Given the description of an element on the screen output the (x, y) to click on. 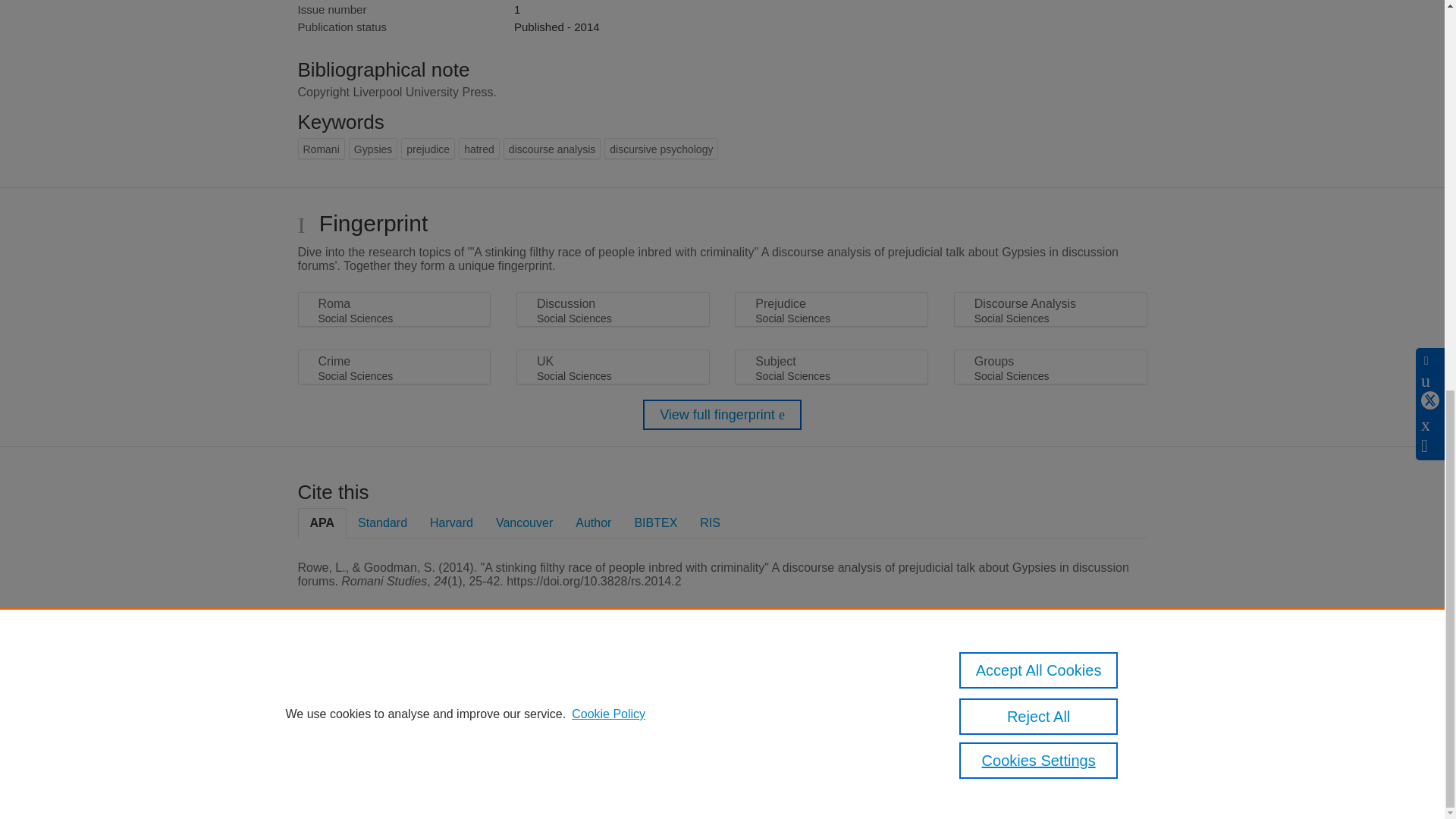
Scopus (394, 686)
View full fingerprint (722, 414)
Pure (362, 686)
